Given the description of an element on the screen output the (x, y) to click on. 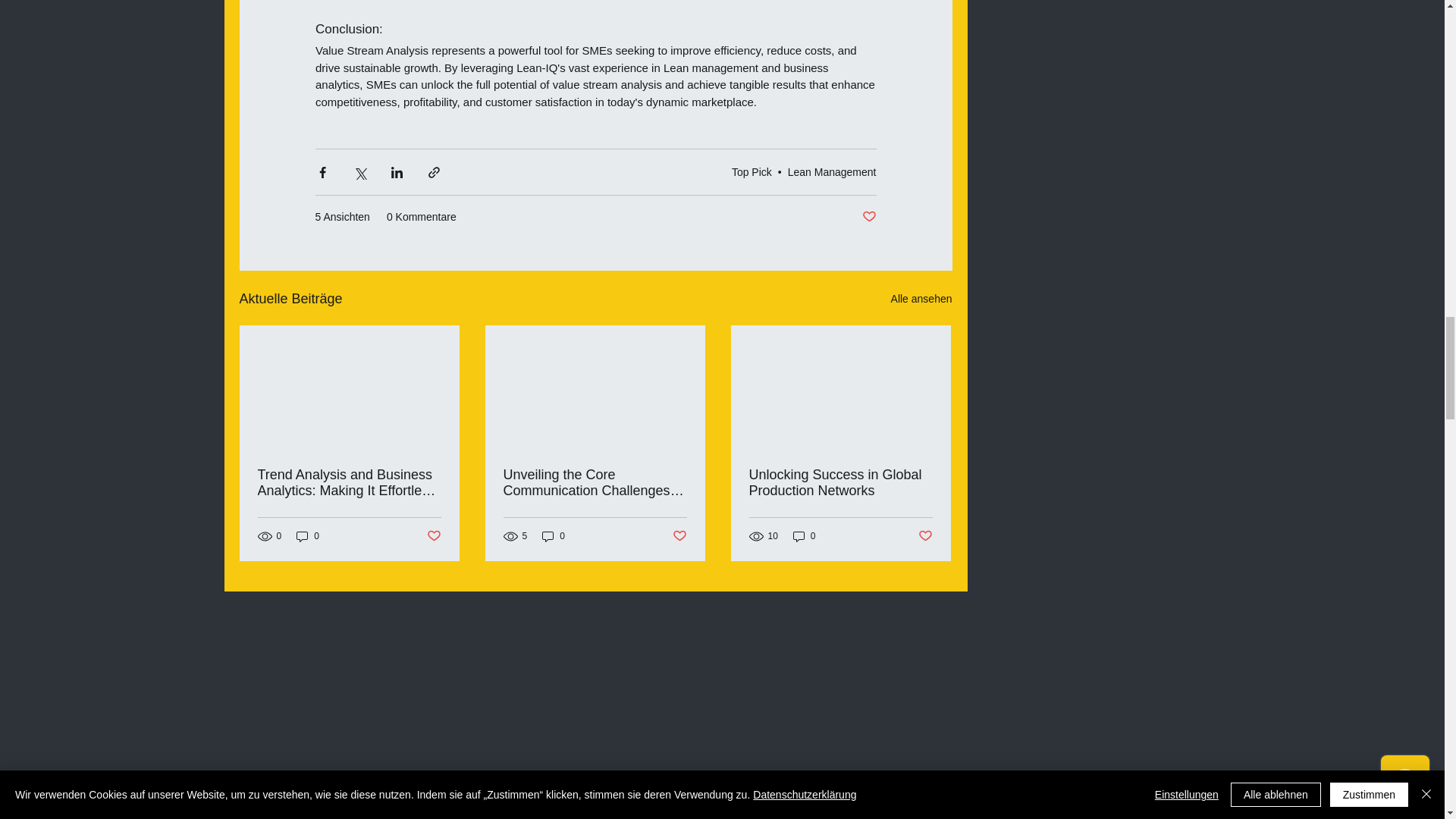
Lean Management (831, 172)
Top Pick (751, 172)
